Given the description of an element on the screen output the (x, y) to click on. 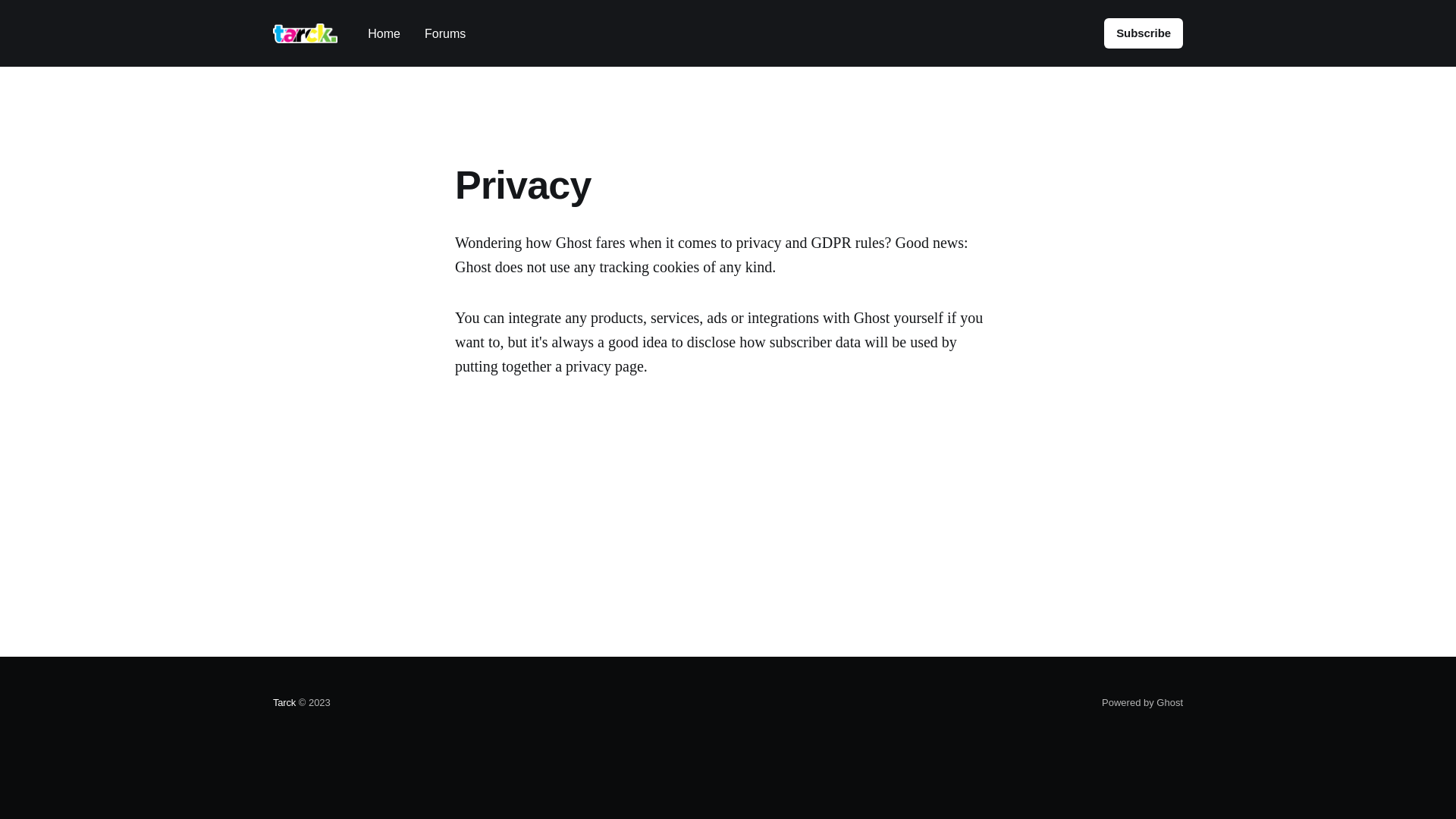
Forums Element type: text (444, 33)
Home Element type: text (383, 33)
Subscribe Element type: text (1143, 33)
Powered by Ghost Element type: text (1142, 702)
Tarck Element type: text (284, 702)
